Given the description of an element on the screen output the (x, y) to click on. 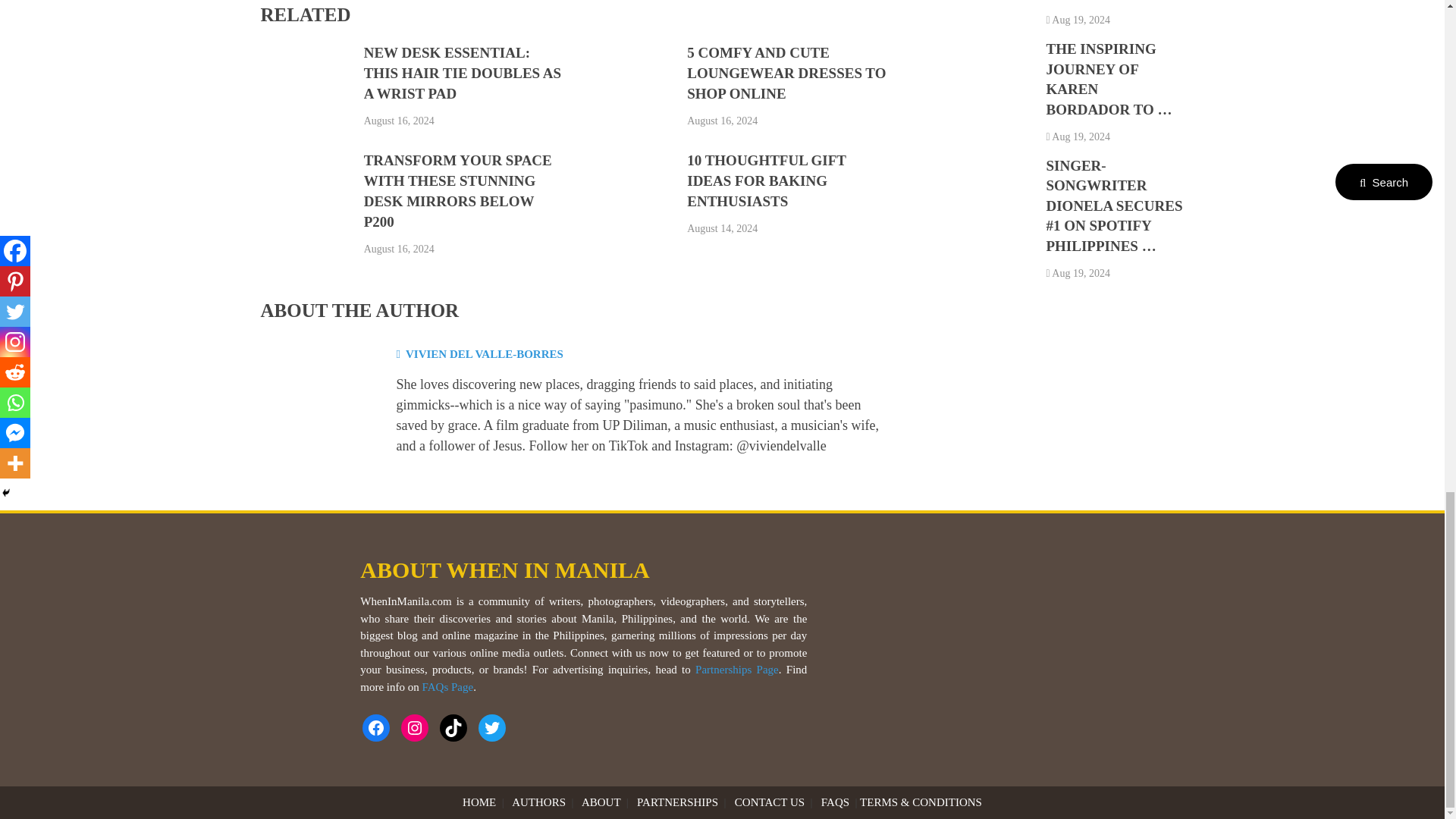
5 Comfy and Cute Loungewear Dresses to Shop Online (786, 73)
New Desk Essential: This Hair Tie Doubles As a Wrist Pad (462, 73)
New Desk Essential: This Hair Tie Doubles As a Wrist Pad 2 (305, 90)
5 Comfy and Cute Loungewear Dresses to Shop Online 3 (627, 90)
